Given the description of an element on the screen output the (x, y) to click on. 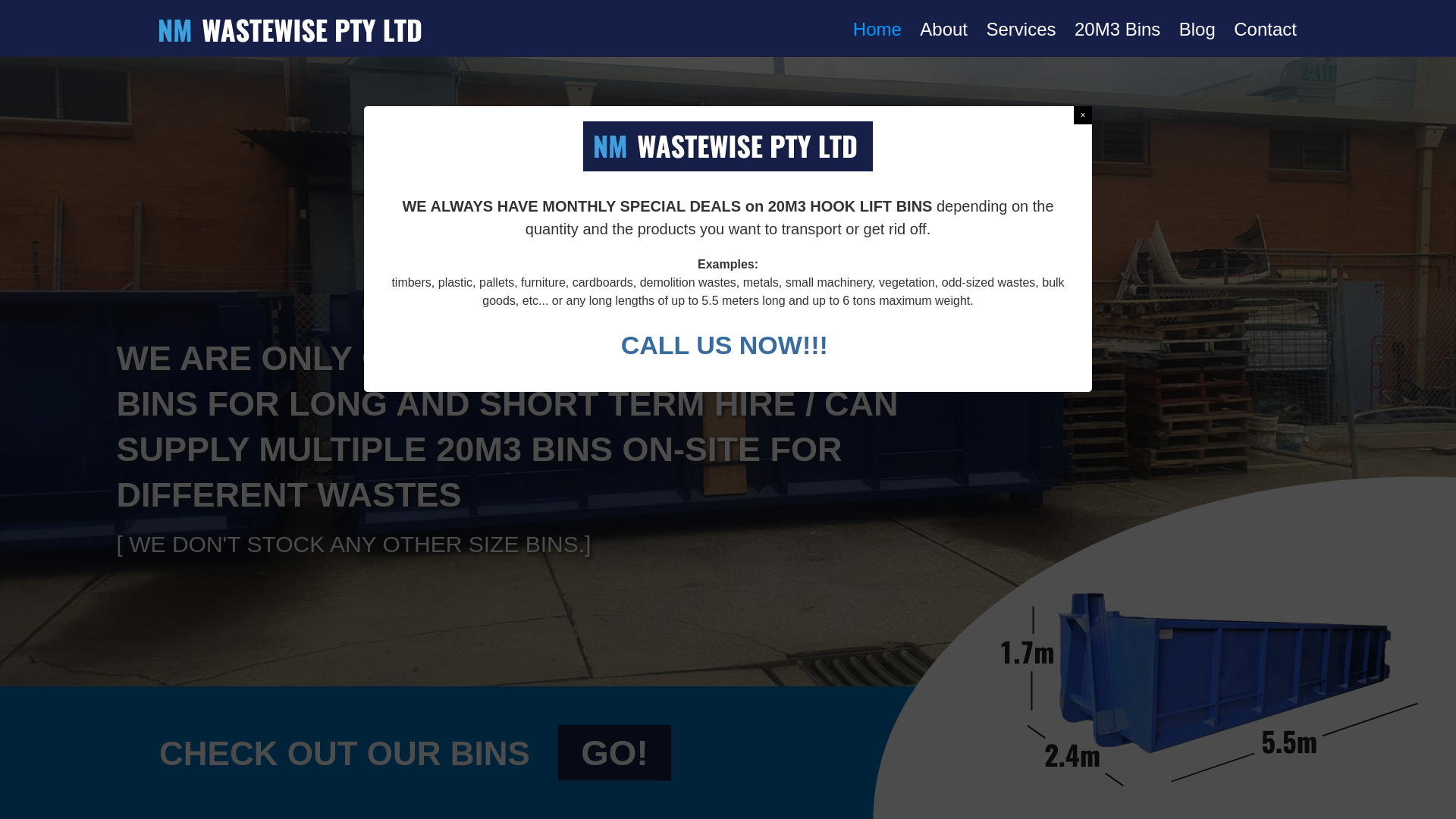
About Element type: text (943, 28)
Services Element type: text (1020, 28)
20M3 Bins Element type: text (1117, 28)
Contact Element type: text (1264, 28)
Blog Element type: text (1197, 28)
CALL US NOW!!!  Element type: text (728, 344)
GO! Element type: text (614, 752)
Home Element type: text (877, 28)
